Given the description of an element on the screen output the (x, y) to click on. 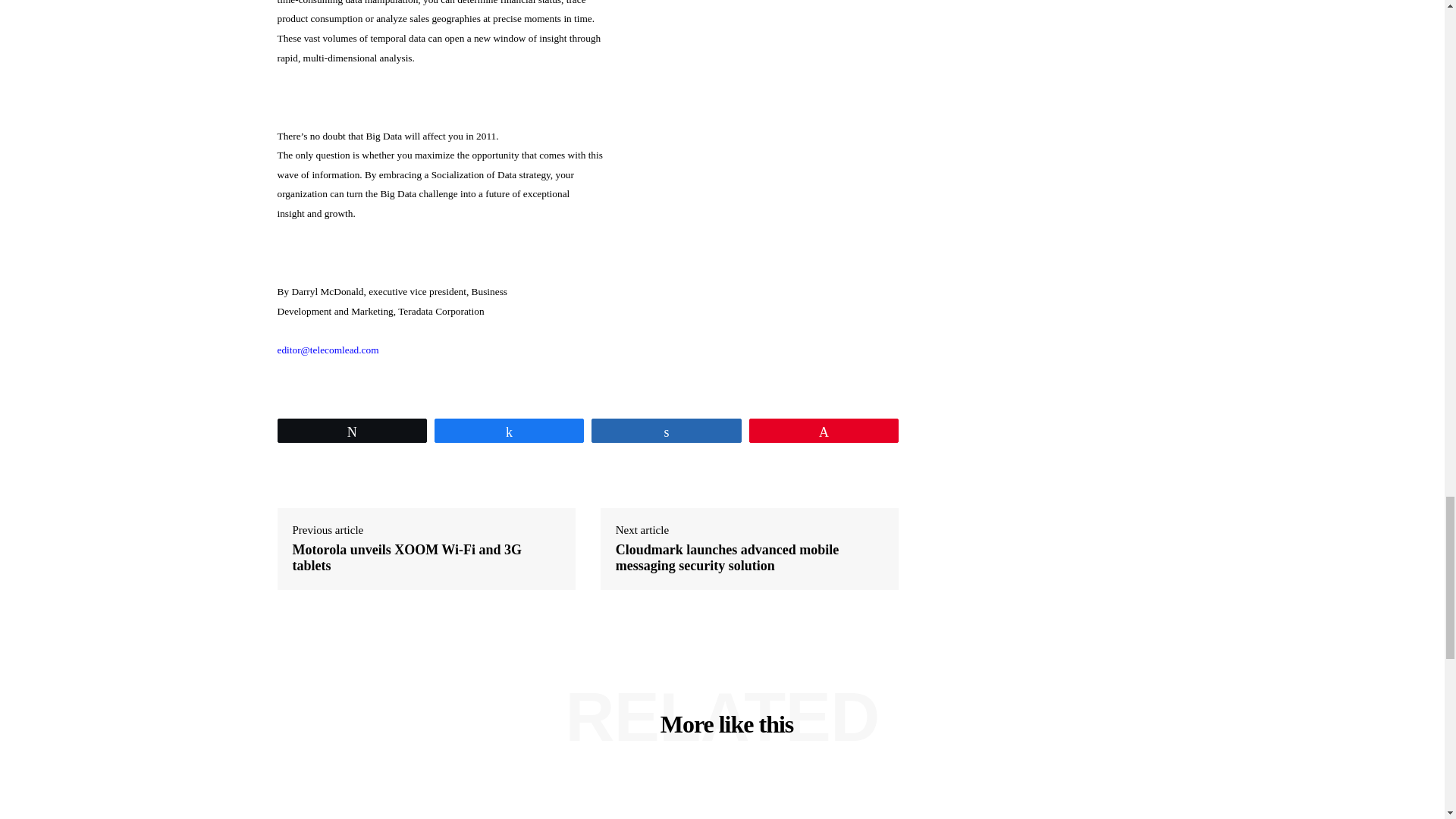
Motorola unveils XOOM Wi-Fi and 3G tablets (426, 558)
